Given the description of an element on the screen output the (x, y) to click on. 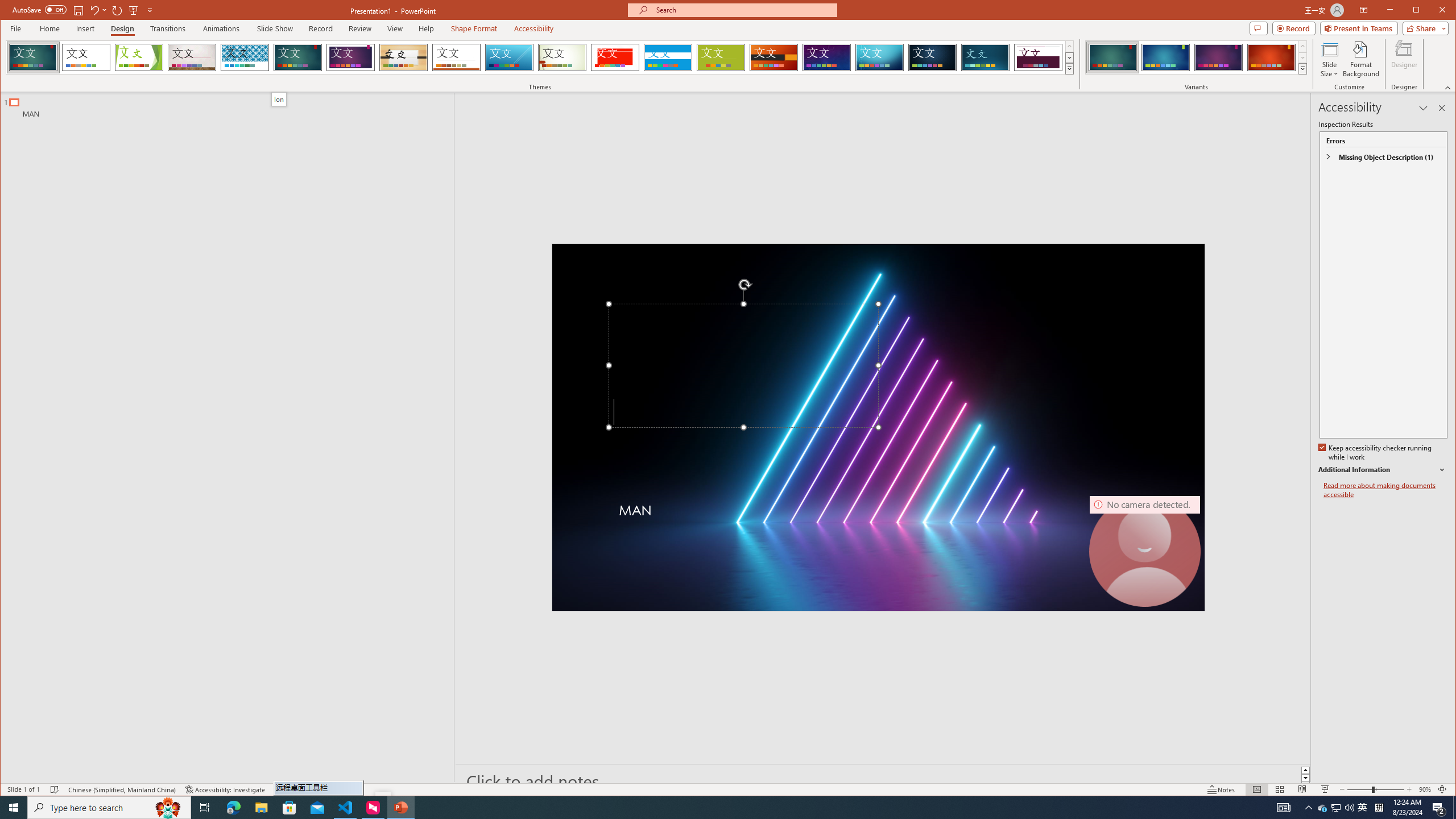
Notes  (1222, 789)
Home (49, 28)
Ion Variant 3 (1218, 57)
Wisp (561, 57)
Normal (1256, 789)
Close pane (1441, 107)
Line down (1305, 778)
Quick Access Toolbar (83, 9)
Ribbon Display Options (1364, 9)
Retrospect (456, 57)
Row Down (1302, 57)
From Beginning (133, 9)
Design (122, 28)
